Given the description of an element on the screen output the (x, y) to click on. 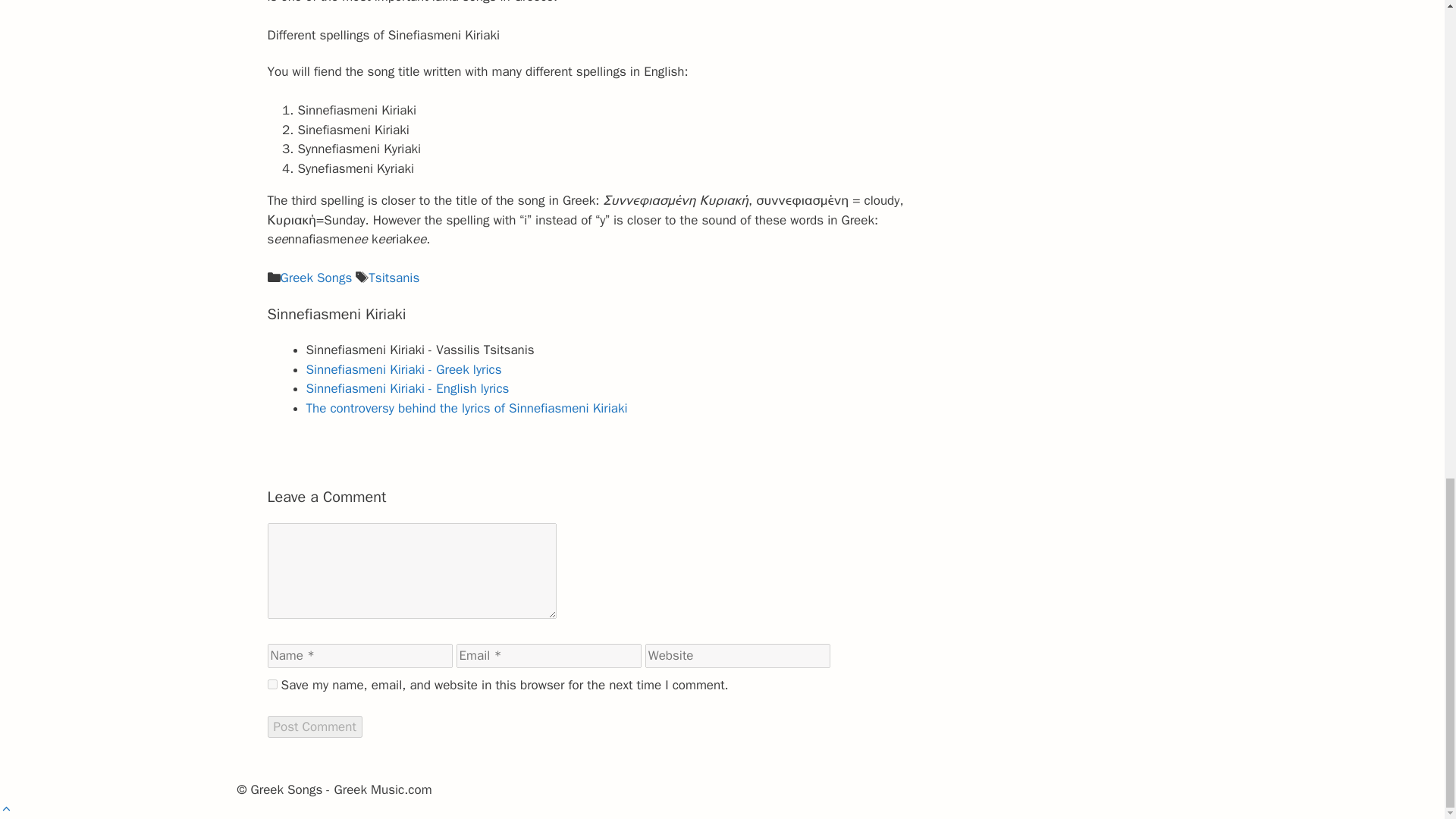
Tsitsanis (393, 277)
Sinnefiasmeni Kiriaki - English lyrics (407, 388)
Greek Songs (316, 277)
The controversy behind the lyrics of Sinnefiasmeni Kiriaki (466, 408)
Sinnefiasmeni Kiriaki - Greek lyrics (403, 369)
Post Comment (313, 726)
yes (271, 684)
Post Comment (313, 726)
Sinnefiasmeni Kiriaki - English lyrics (407, 388)
Sinnefiasmeni Kiriaki - Greek lyrics (403, 369)
